Given the description of an element on the screen output the (x, y) to click on. 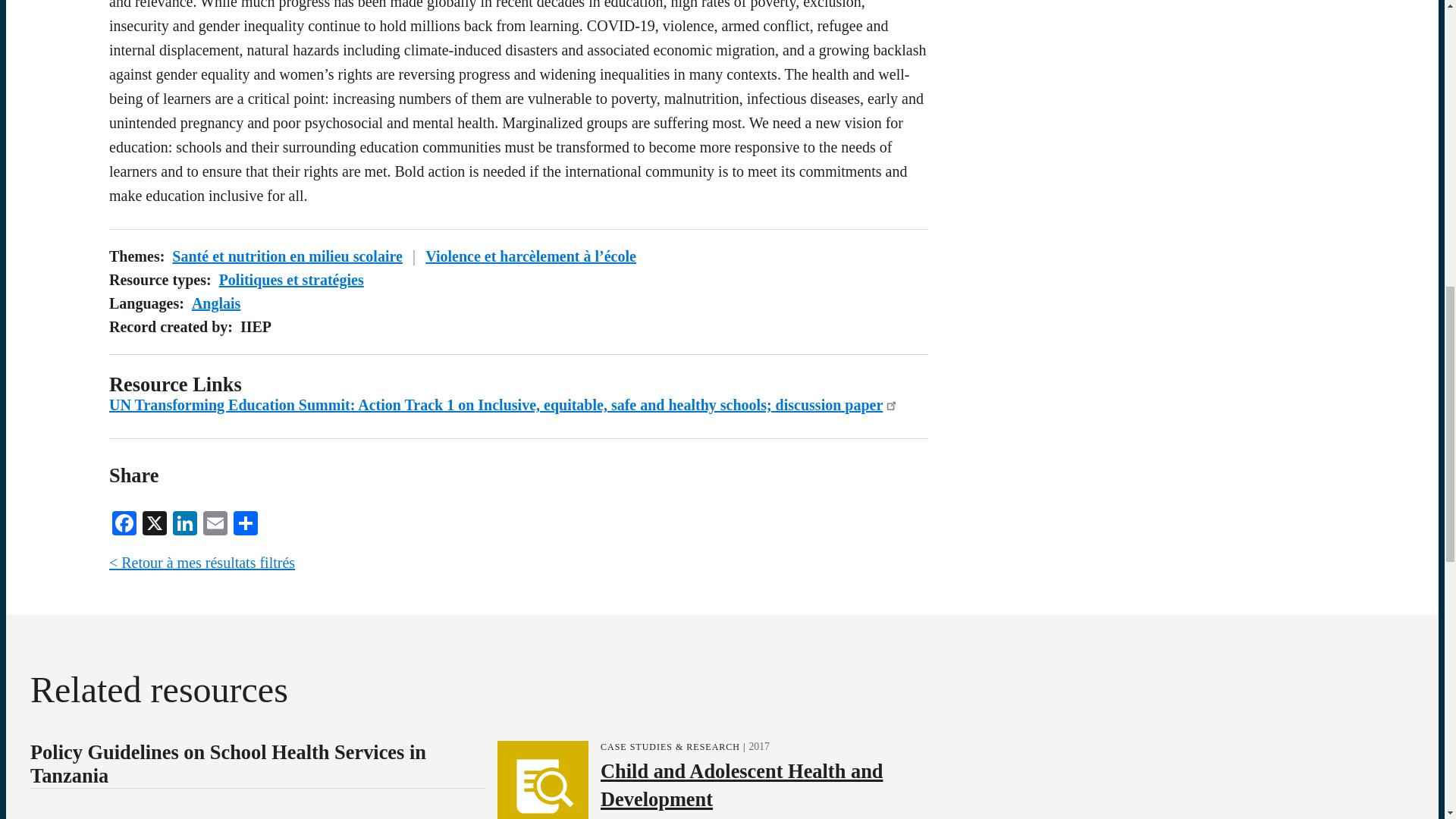
Child and Adolescent Health and Development (740, 783)
Share (245, 521)
X (154, 521)
Anglais (216, 303)
LinkedIn (185, 521)
Facebook (124, 521)
Email (215, 521)
